Given the description of an element on the screen output the (x, y) to click on. 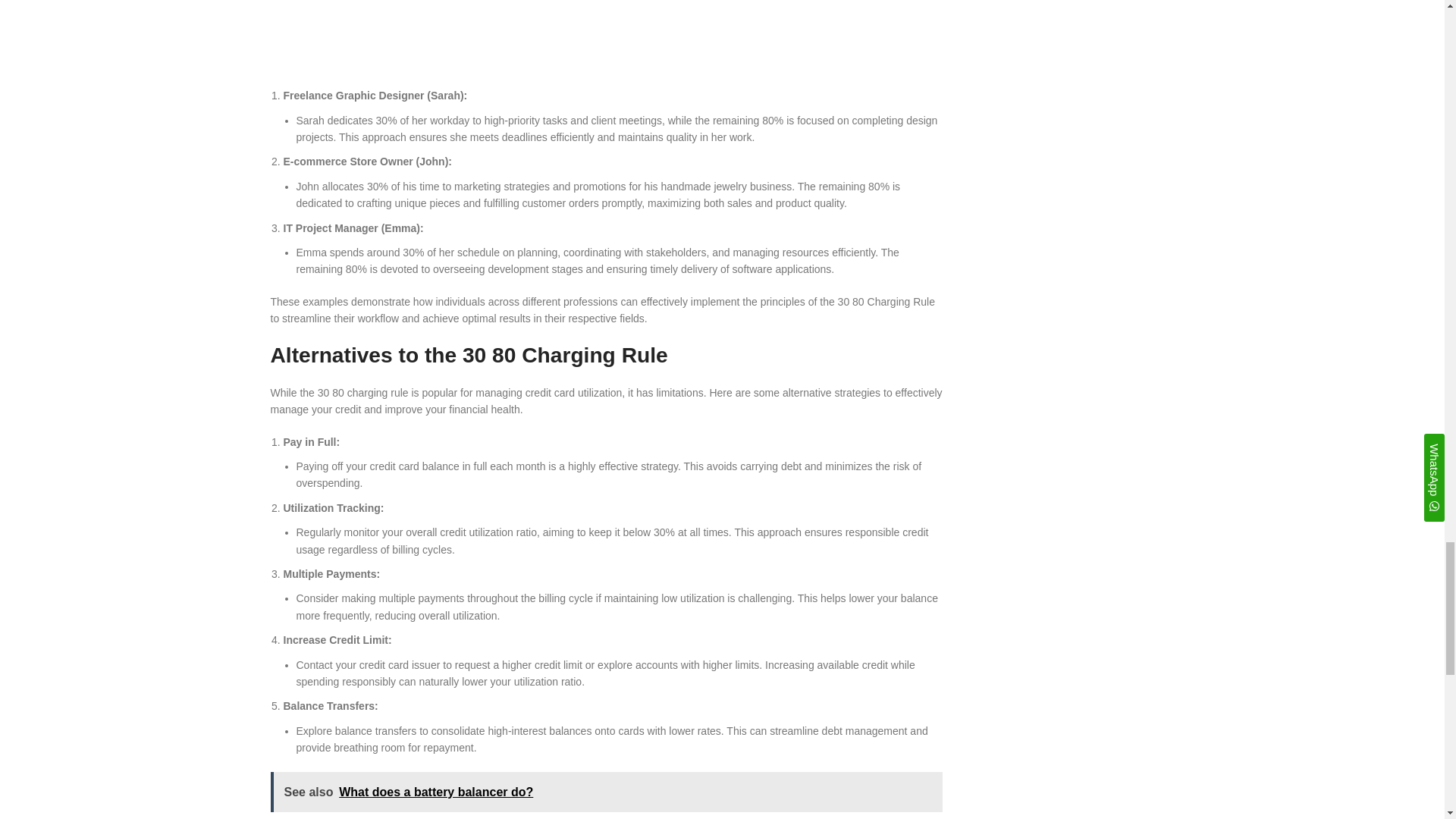
Examples of Applying the Rule in Real Life Scenarios (605, 36)
